Given the description of an element on the screen output the (x, y) to click on. 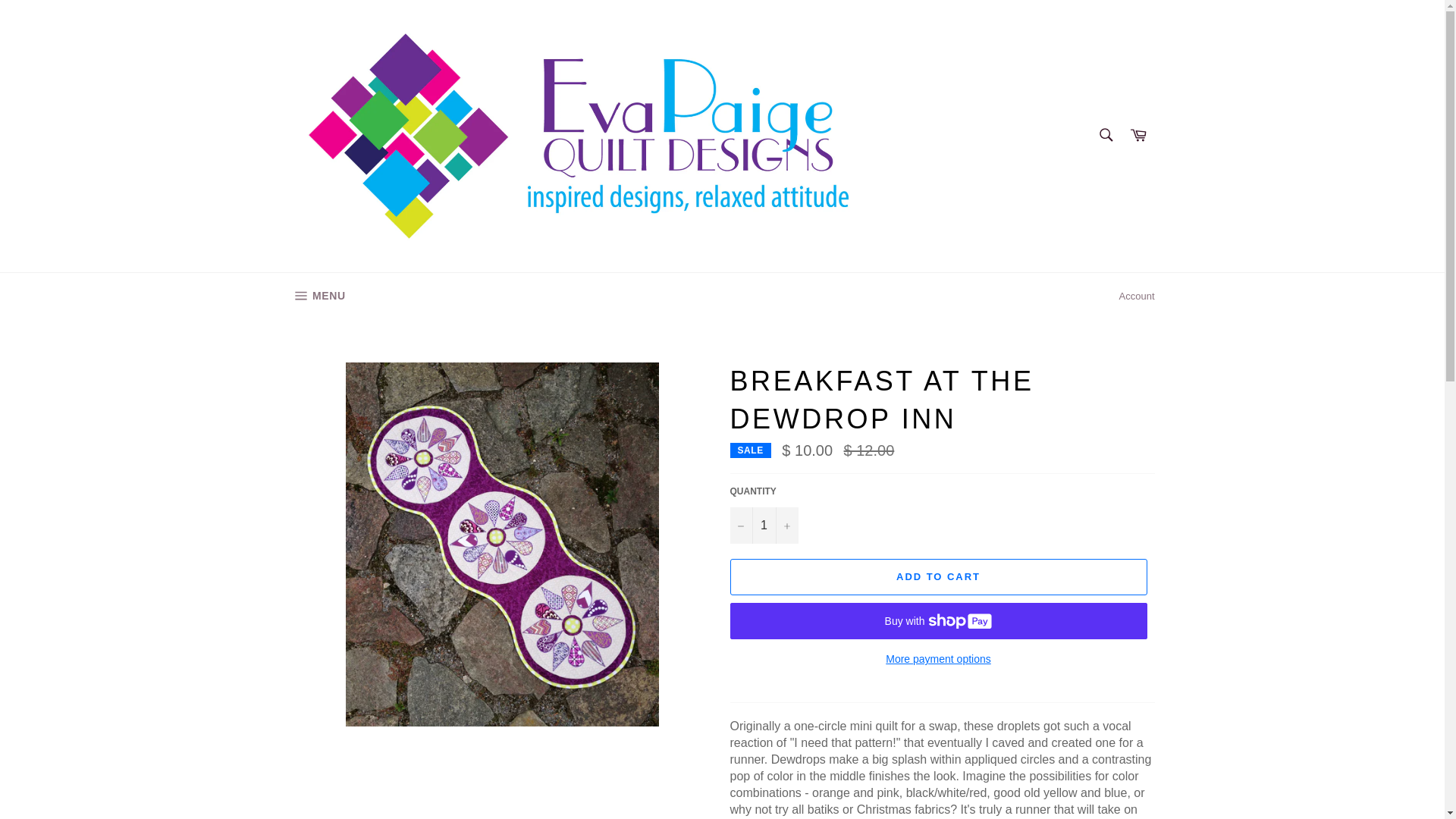
Search (317, 296)
Account (1104, 134)
ADD TO CART (1136, 296)
1 (938, 576)
More payment options (763, 524)
Cart (938, 659)
